Given the description of an element on the screen output the (x, y) to click on. 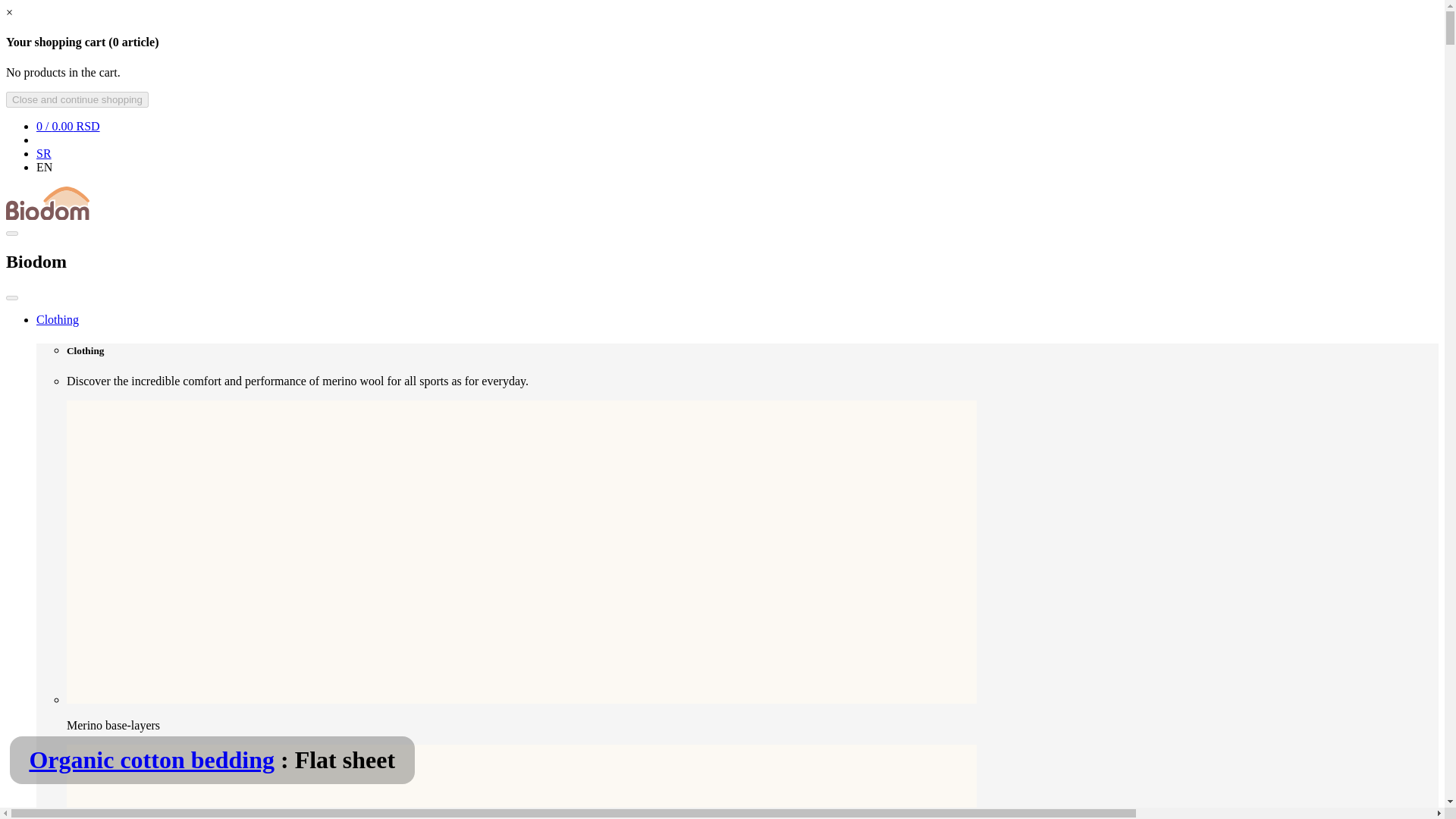
Srpski (43, 153)
See your shopping cart (68, 125)
SR (43, 153)
Close and continue shopping (76, 99)
Clothing (57, 318)
